Given the description of an element on the screen output the (x, y) to click on. 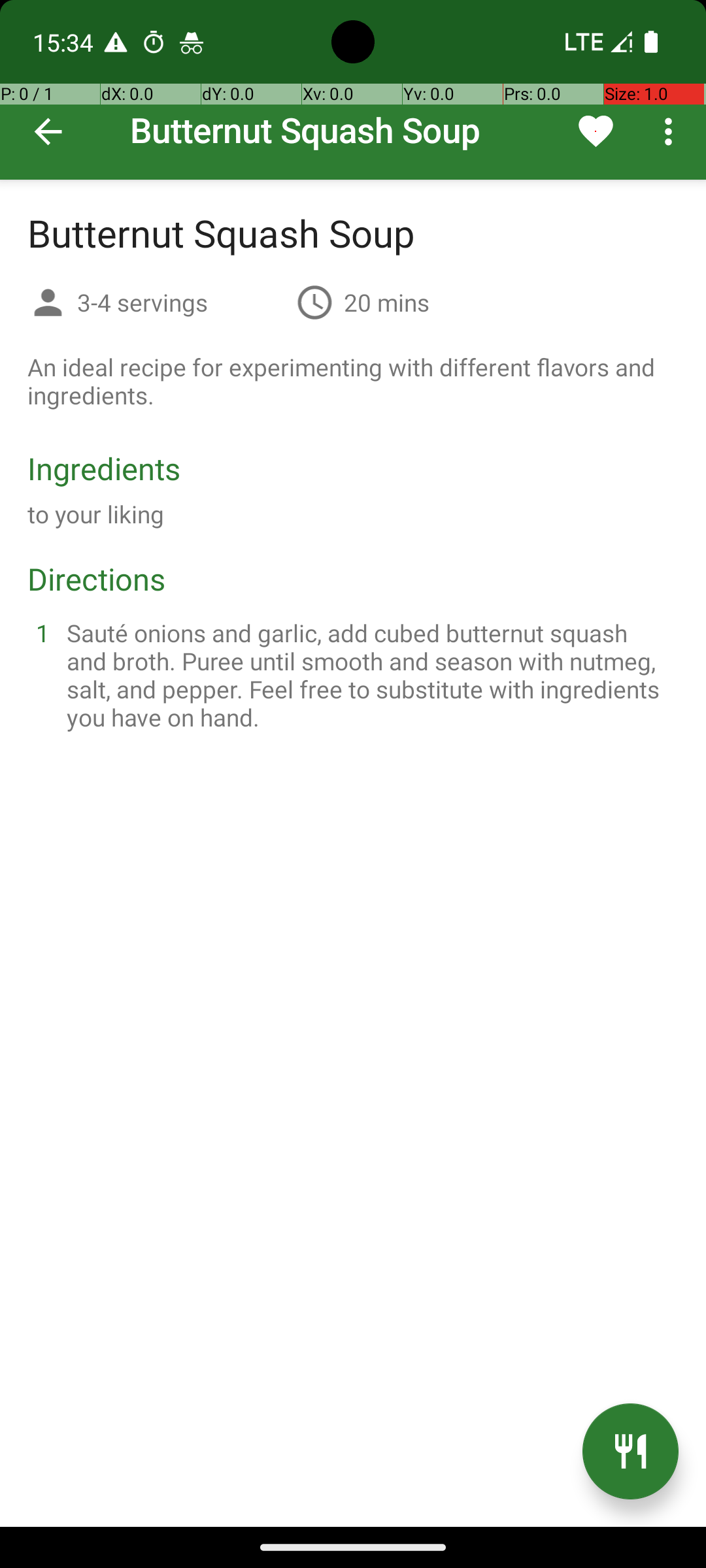
3-4 servings Element type: android.widget.TextView (181, 301)
20 mins Element type: android.widget.TextView (386, 301)
to your liking Element type: android.widget.TextView (95, 513)
Sauté onions and garlic, add cubed butternut squash and broth. Puree until smooth and season with nutmeg, salt, and pepper. Feel free to substitute with ingredients you have on hand. Element type: android.widget.TextView (368, 674)
